Given the description of an element on the screen output the (x, y) to click on. 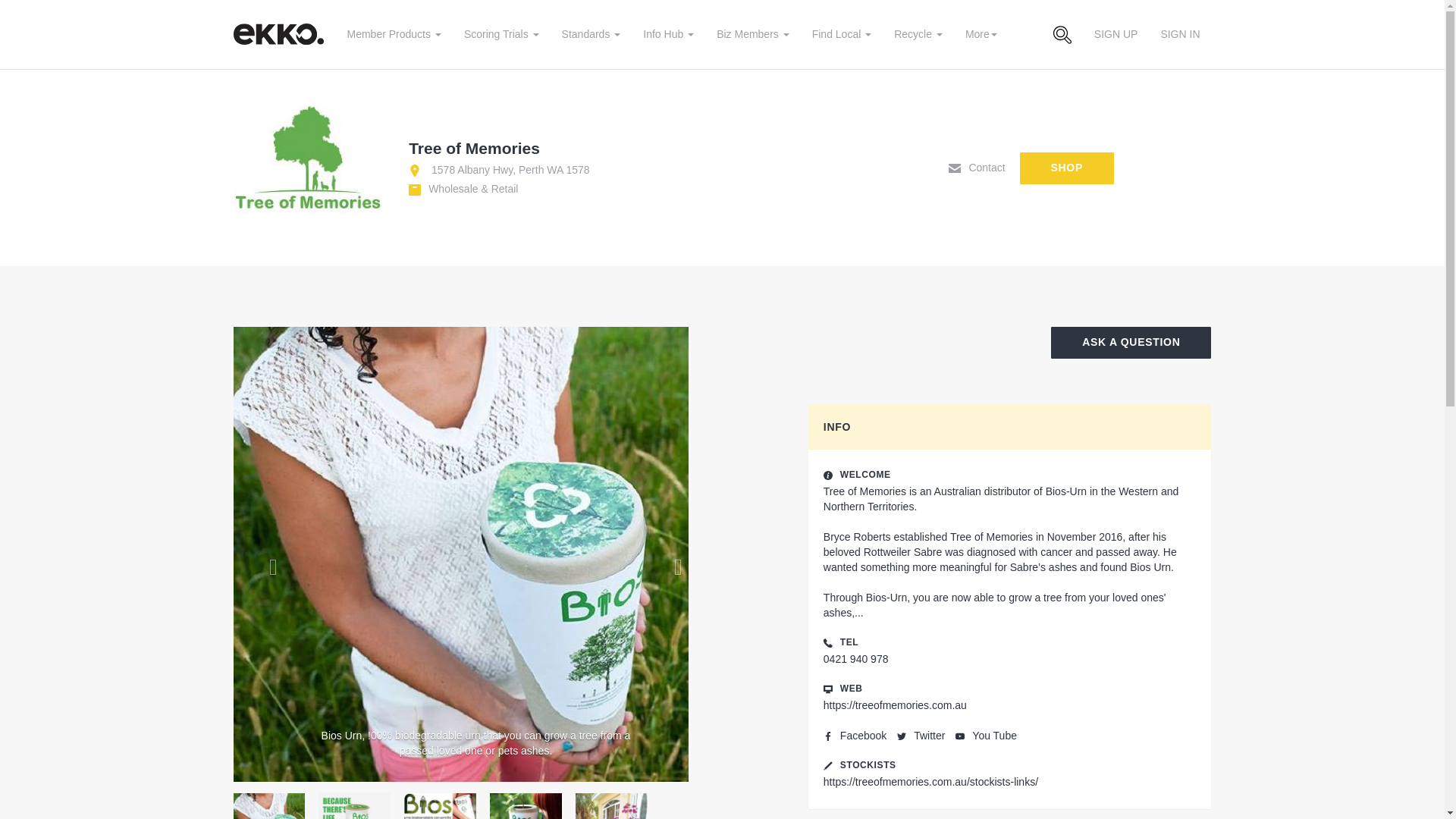
Skip to main content (10, 10)
Ekko (281, 33)
Info Hub (667, 33)
Standards (590, 33)
Scoring Trials (501, 33)
Member Products (392, 33)
